Given the description of an element on the screen output the (x, y) to click on. 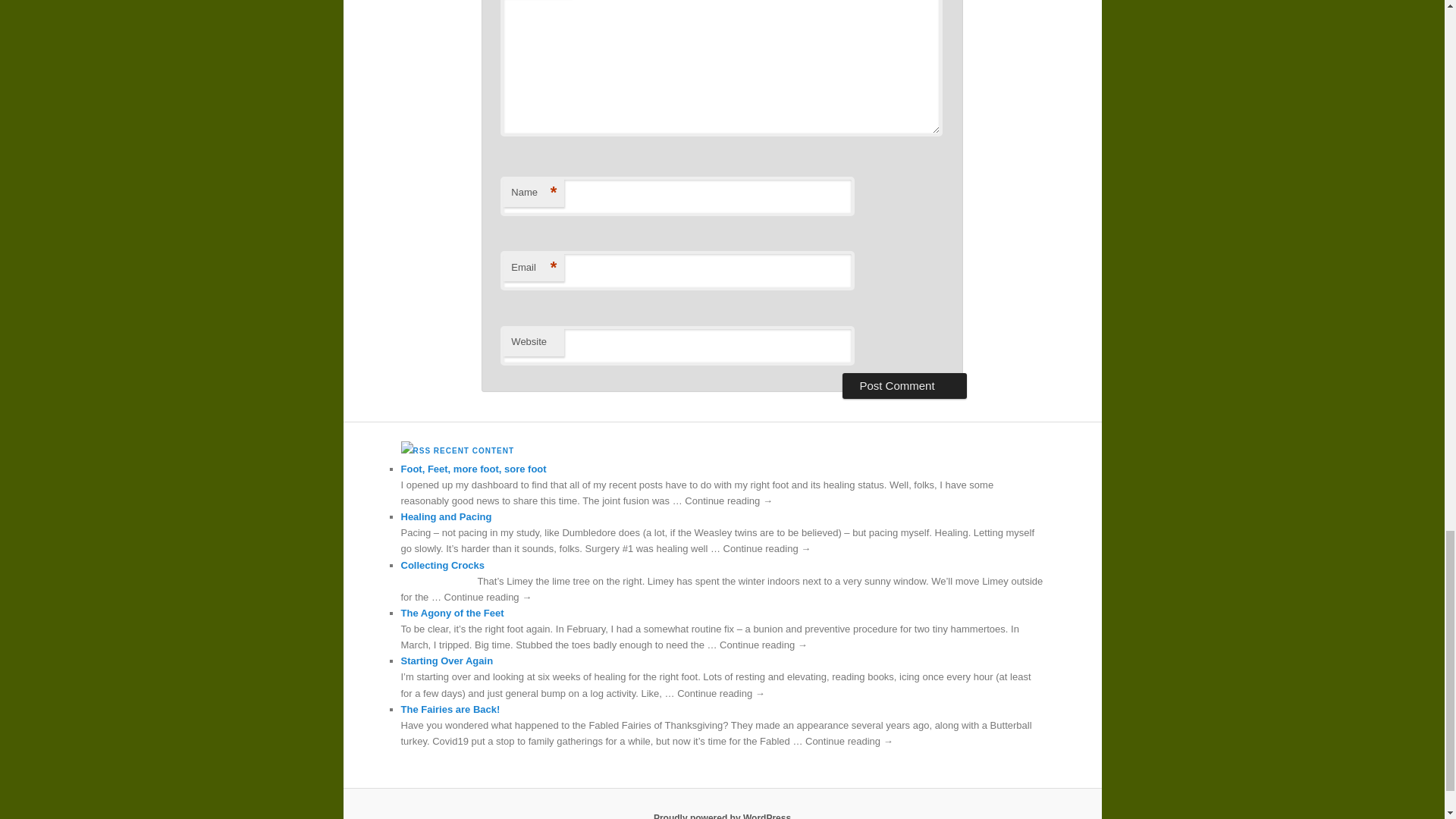
Healing and Pacing (446, 516)
RECENT CONTENT (473, 450)
Post Comment (904, 385)
Post Comment (904, 385)
Collecting Crocks (442, 564)
Foot, Feet, more foot, sore foot (473, 469)
Semantic Personal Publishing Platform (721, 816)
